Given the description of an element on the screen output the (x, y) to click on. 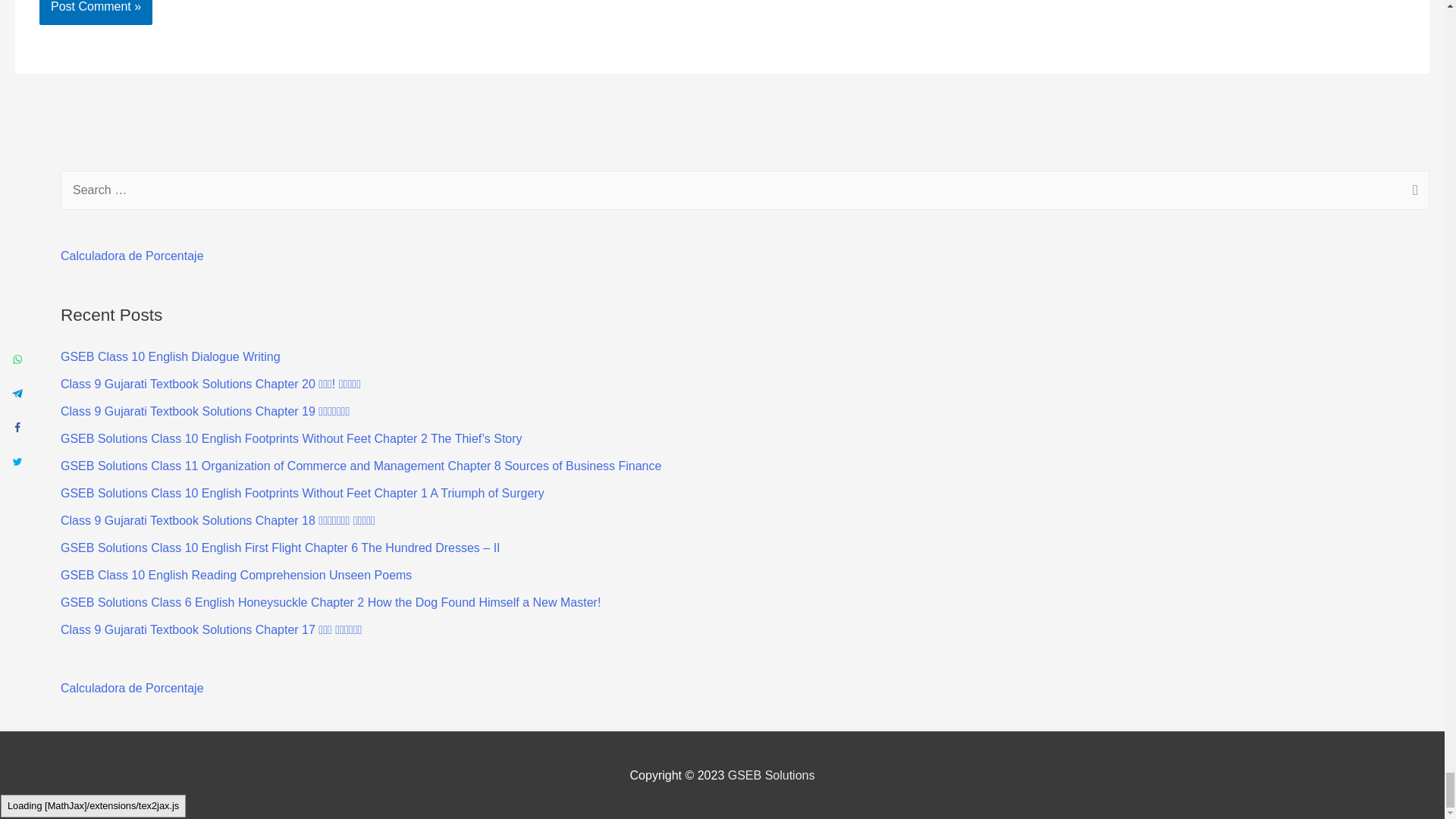
GSEB Class 10 English Dialogue Writing (171, 356)
Calculadora de Porcentaje (132, 255)
GSEB Class 10 English Reading Comprehension Unseen Poems (236, 574)
